Given the description of an element on the screen output the (x, y) to click on. 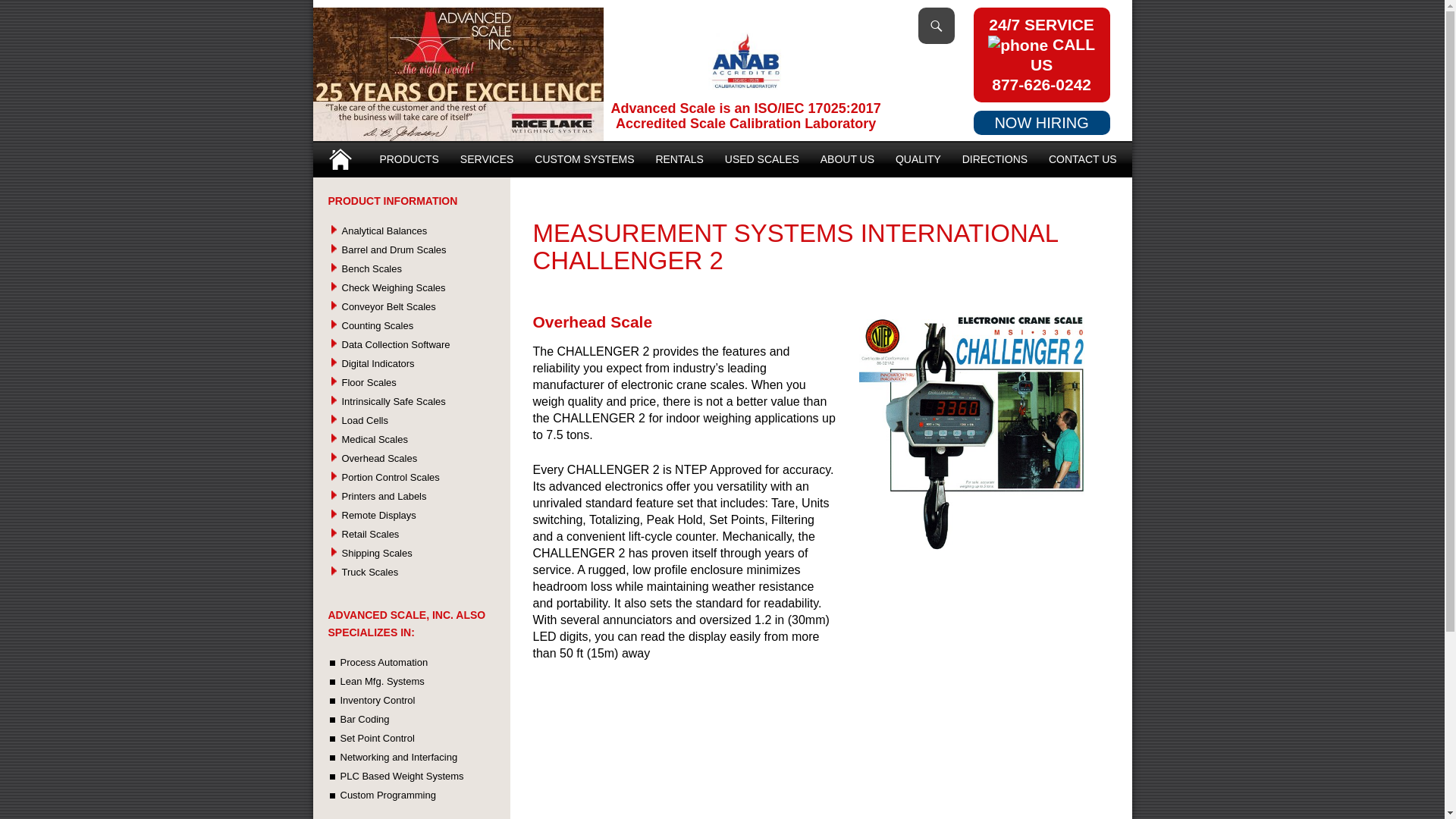
Intrinsically Safe Scales (392, 401)
DIRECTIONS (994, 158)
Data Collection Software (394, 344)
SERVICES (486, 158)
Barrel and Drum Scales (392, 249)
CUSTOM SYSTEMS (584, 158)
QUALITY (918, 158)
Printers and Labels (383, 496)
Conveyor Belt Scales (387, 306)
Bench Scales (370, 268)
